Given the description of an element on the screen output the (x, y) to click on. 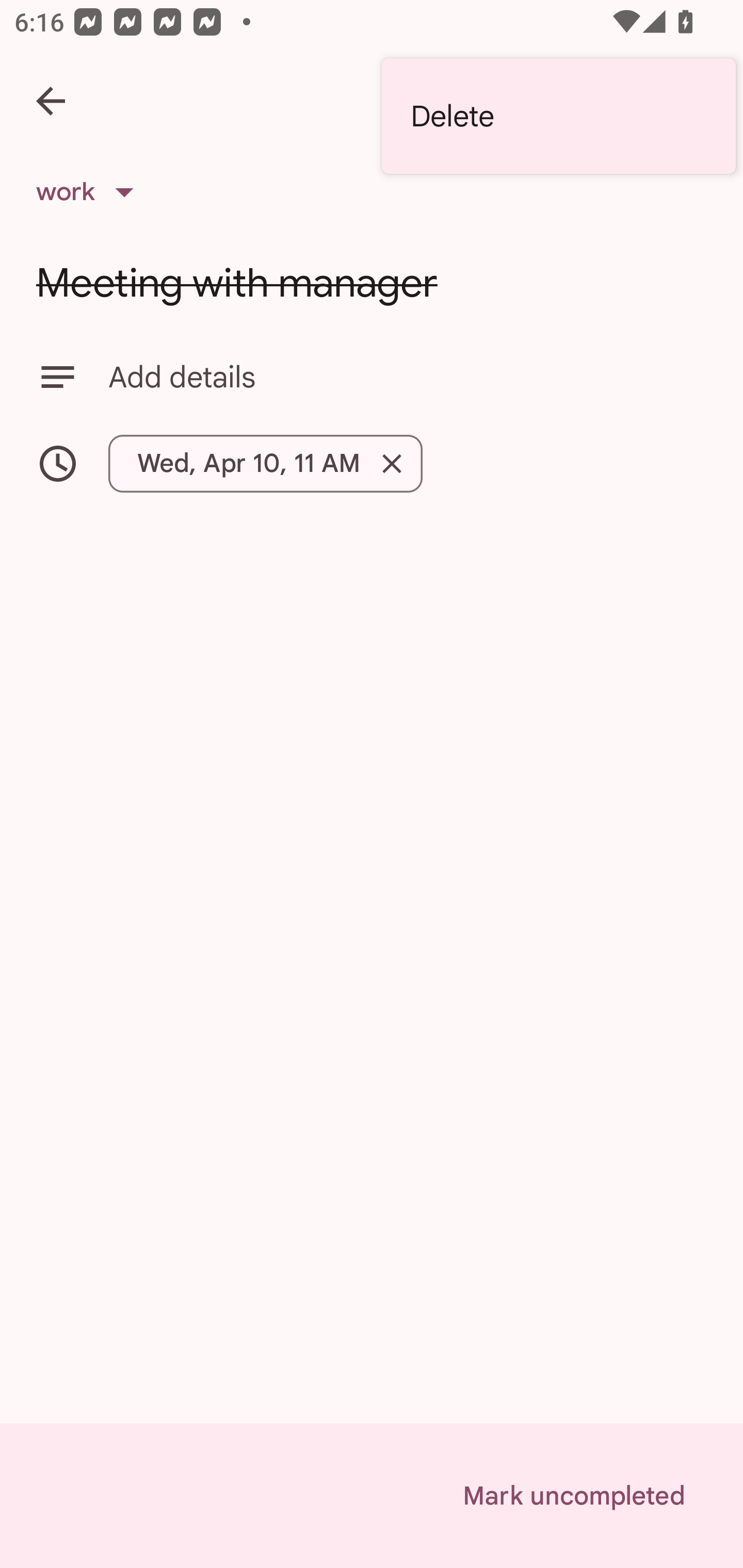
Delete (558, 115)
